Given the description of an element on the screen output the (x, y) to click on. 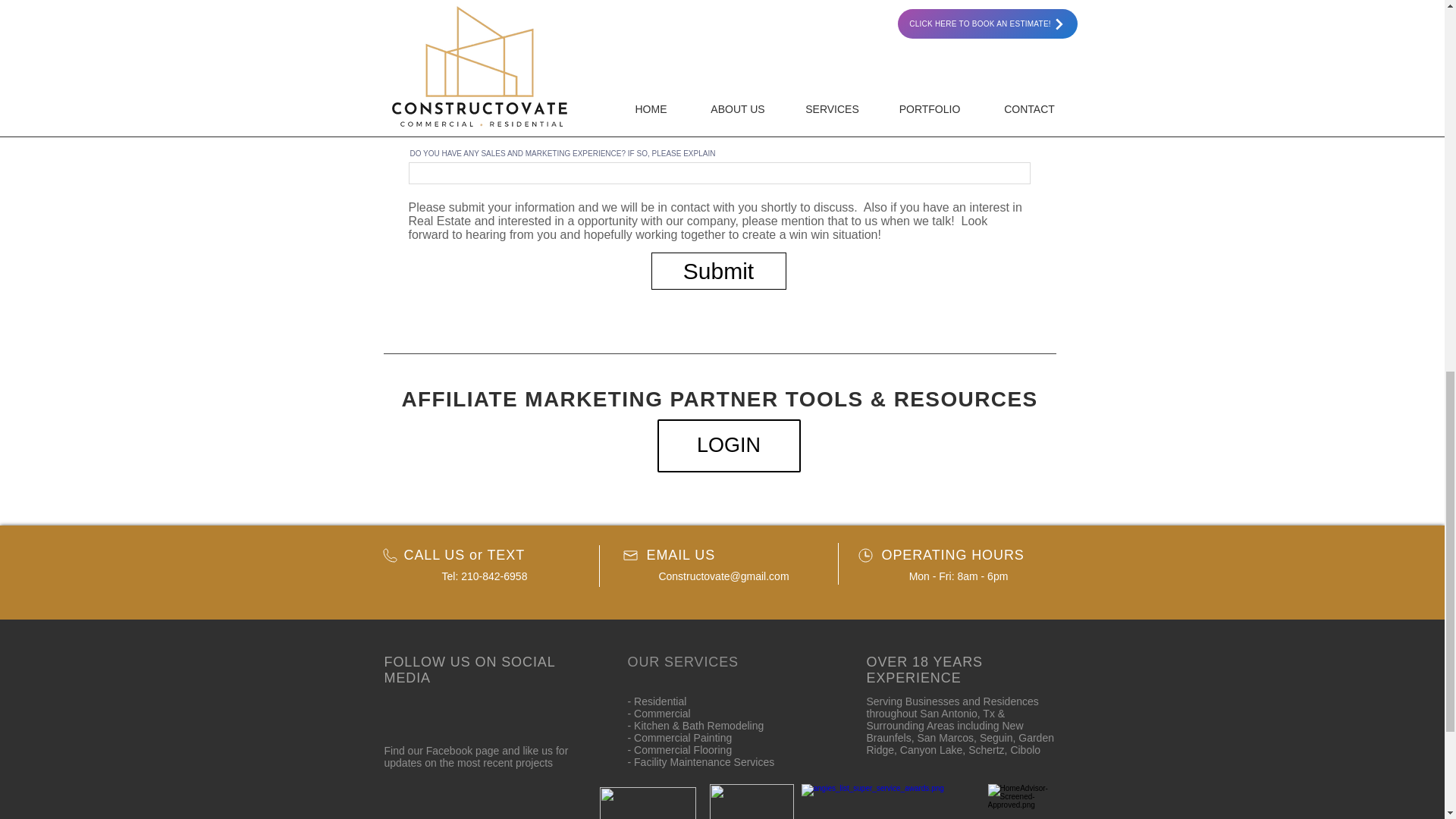
Submit (718, 270)
